Given the description of an element on the screen output the (x, y) to click on. 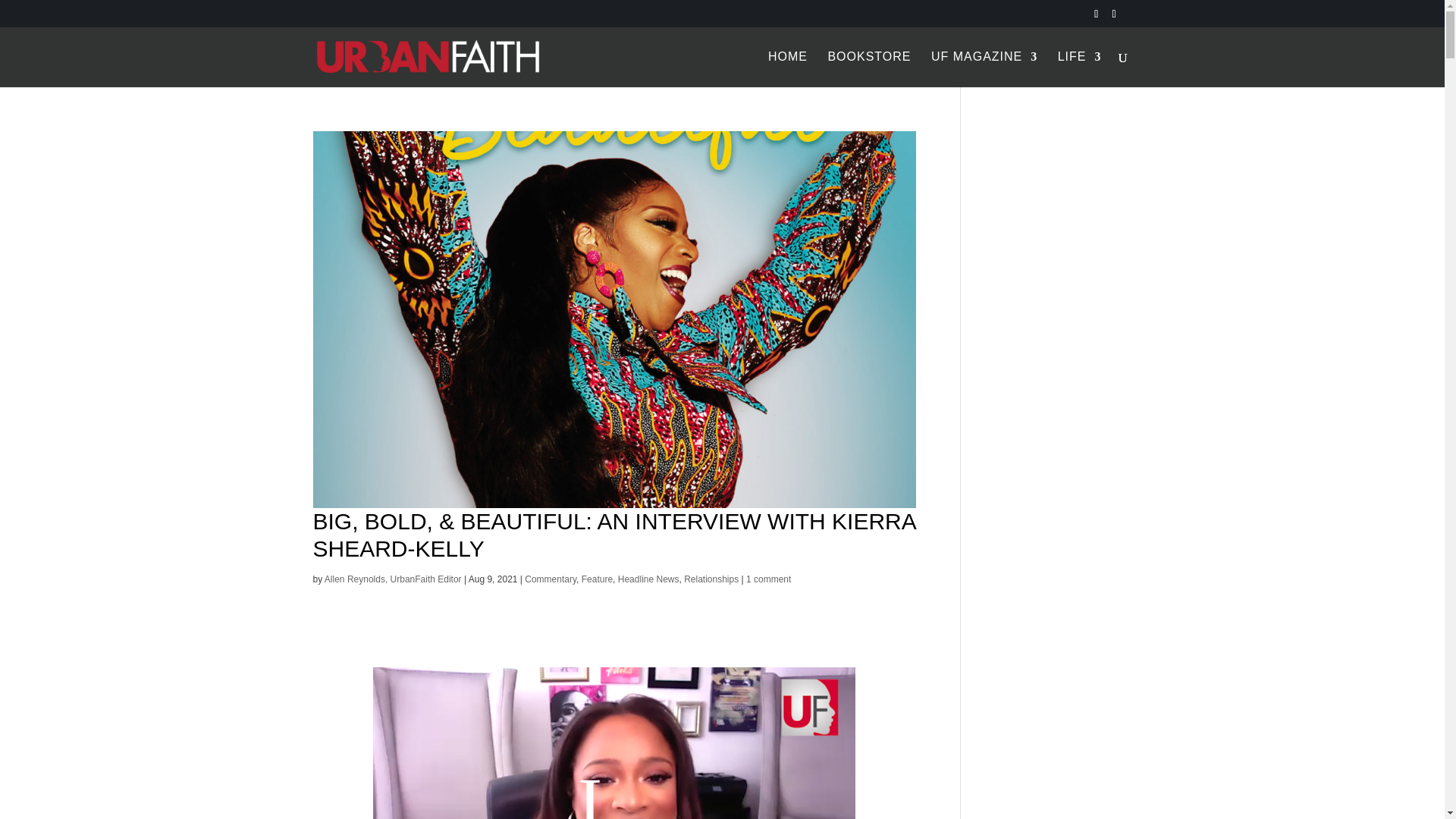
HOME (788, 68)
LIFE (1080, 68)
Headline News (648, 579)
Commentary (550, 579)
Feature (596, 579)
UF MAGAZINE (983, 68)
Posts by Allen Reynolds, UrbanFaith Editor (392, 579)
BOOKSTORE (869, 68)
Relationships (711, 579)
Allen Reynolds, UrbanFaith Editor (392, 579)
